Given the description of an element on the screen output the (x, y) to click on. 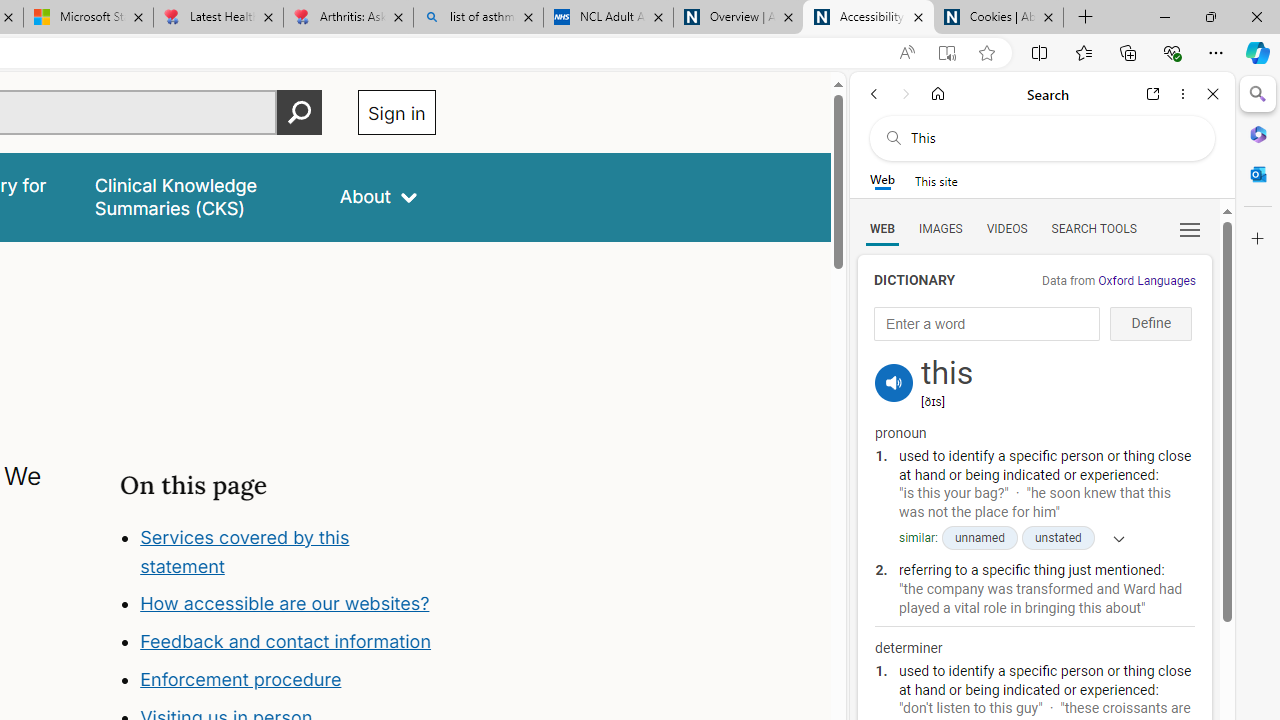
Enter a word (987, 323)
Services covered by this statement (287, 551)
false (198, 196)
unstated (1057, 538)
